Given the description of an element on the screen output the (x, y) to click on. 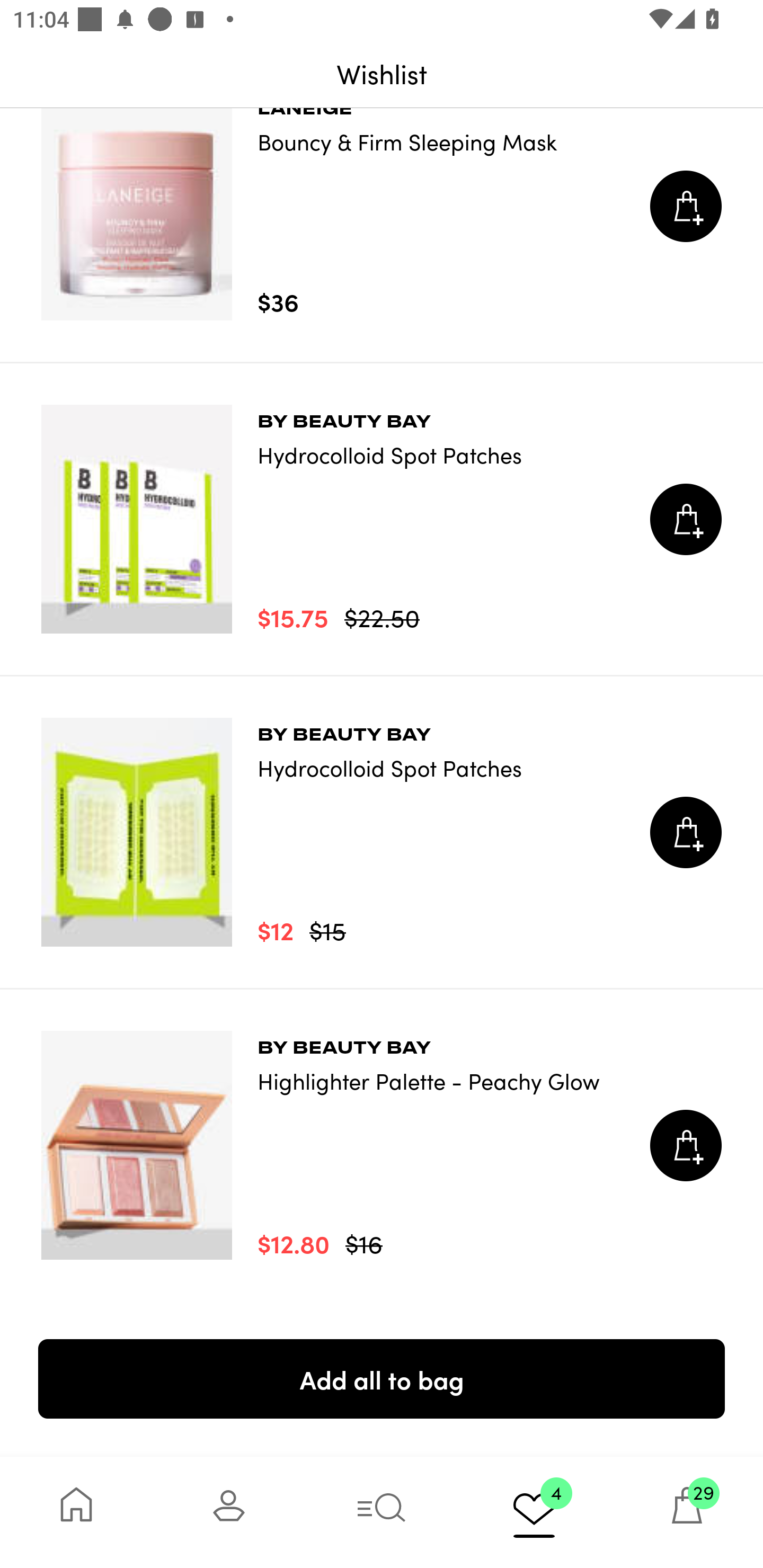
LANEIGE Bouncy & Firm Sleeping Mask $36 (381, 206)
BY BEAUTY BAY Hydrocolloid Spot Patches $12 $15 (381, 831)
Add all to bag (381, 1379)
4 (533, 1512)
29 (686, 1512)
